Given the description of an element on the screen output the (x, y) to click on. 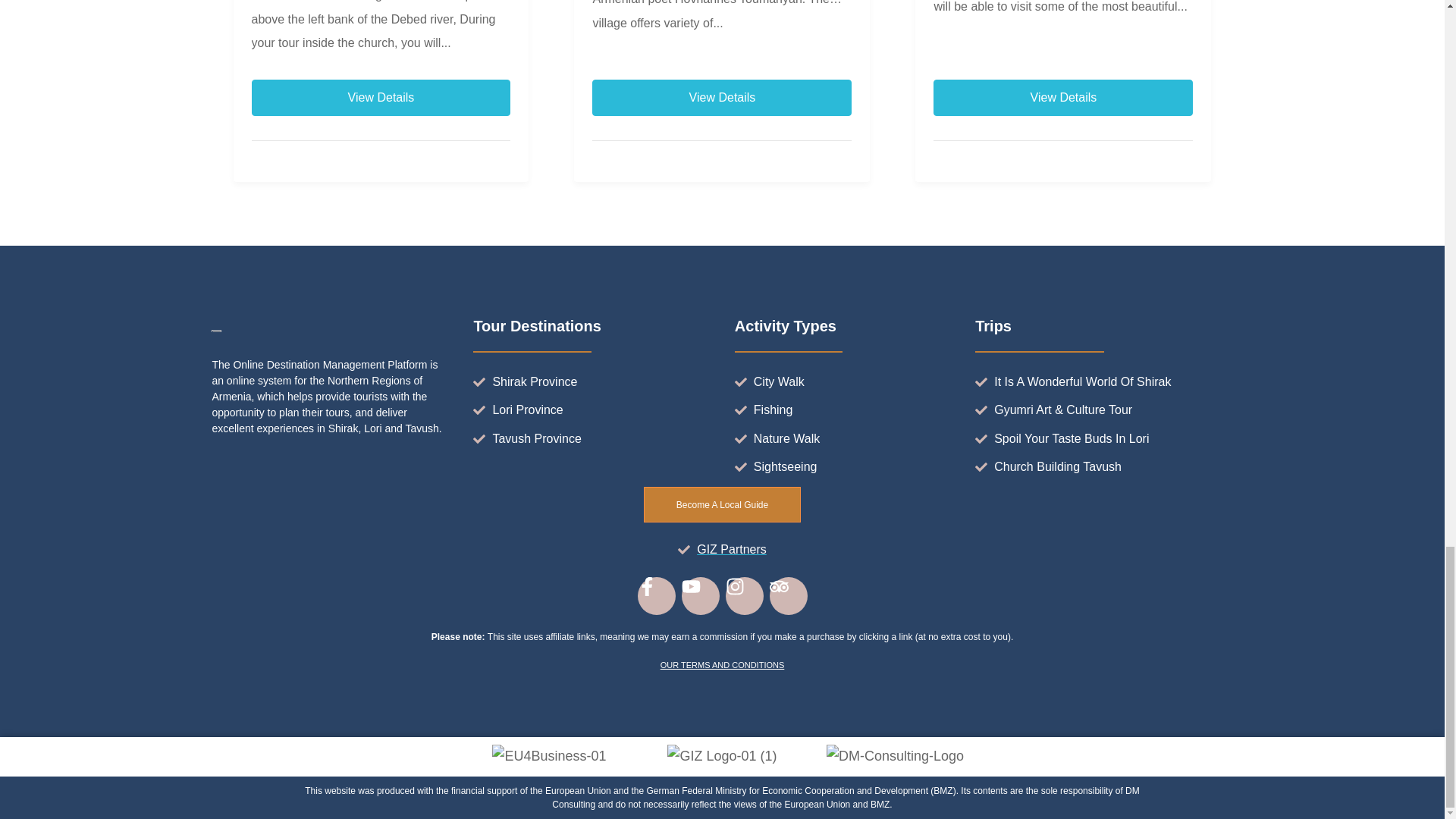
DM-Consulting-Logo (895, 756)
EU4Business-01 (548, 756)
